Given the description of an element on the screen output the (x, y) to click on. 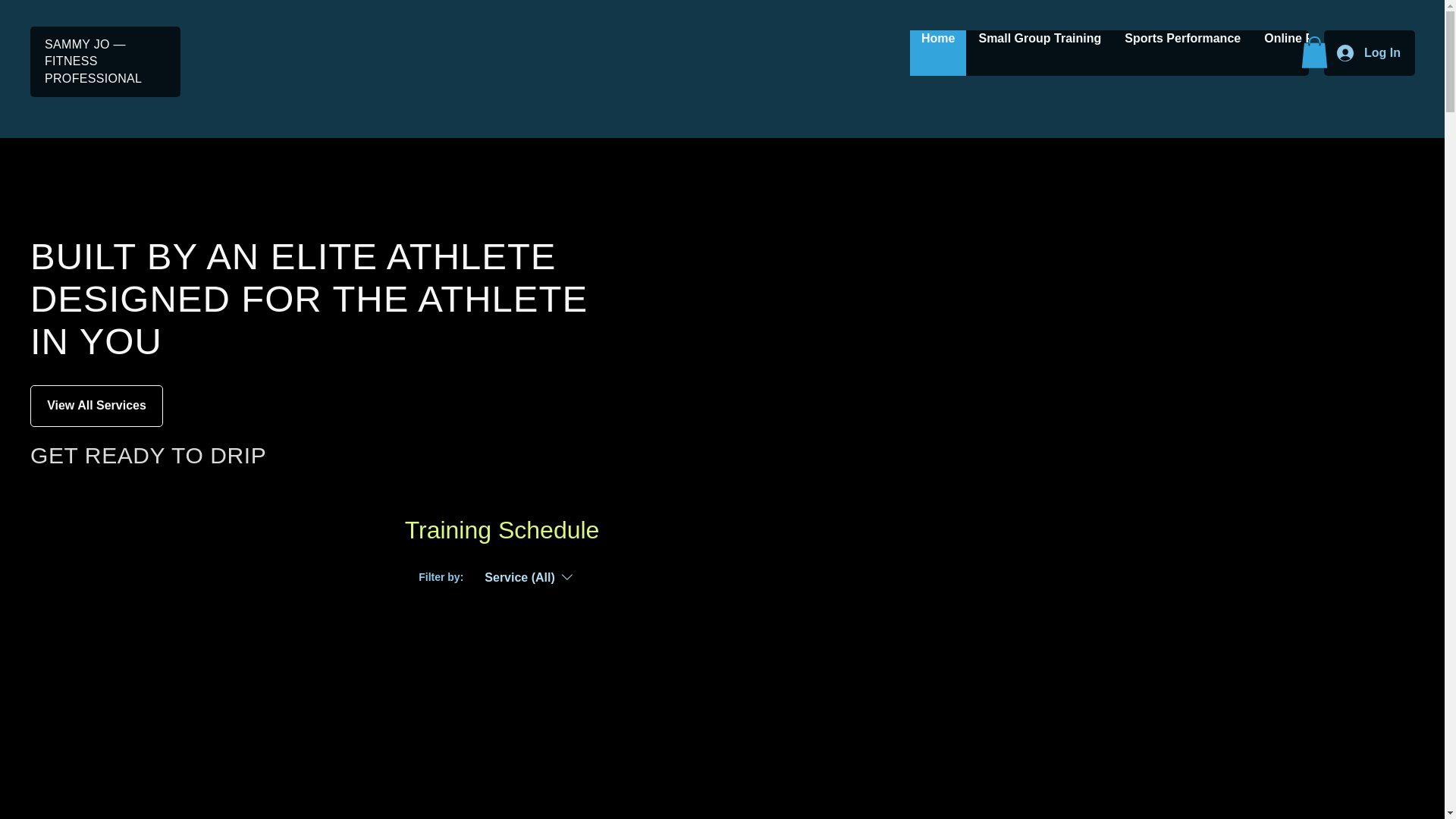
View All Services (96, 405)
Online Programs (1312, 53)
Sports Performance (1182, 53)
Home (938, 53)
Small Group Training (1039, 53)
Log In (1368, 53)
